Given the description of an element on the screen output the (x, y) to click on. 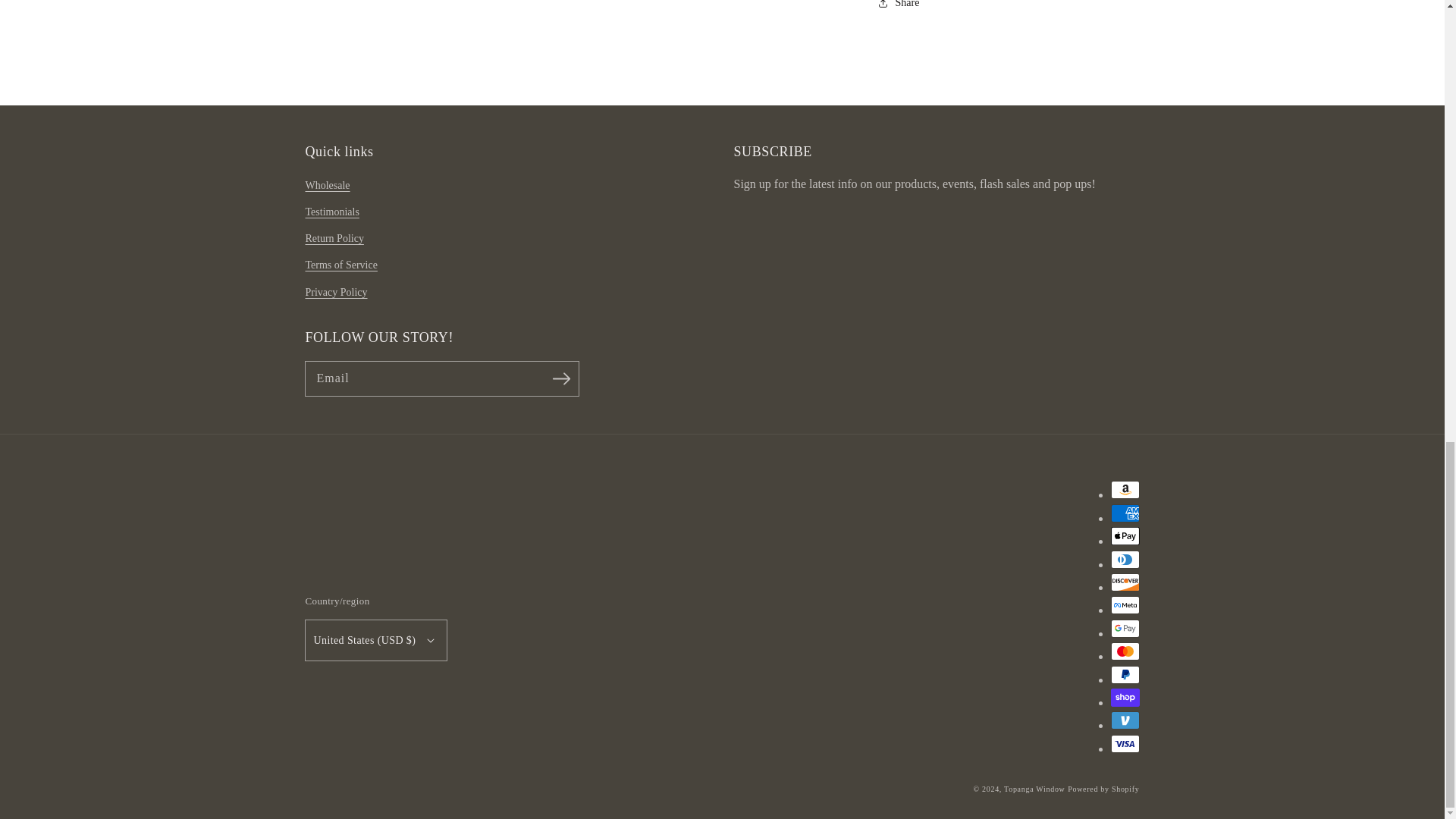
American Express (1123, 513)
Mastercard (1123, 651)
Meta Pay (1123, 605)
Apple Pay (1123, 536)
Diners Club (1123, 559)
Discover (1123, 582)
Google Pay (1123, 628)
Amazon (1123, 489)
